Given the description of an element on the screen output the (x, y) to click on. 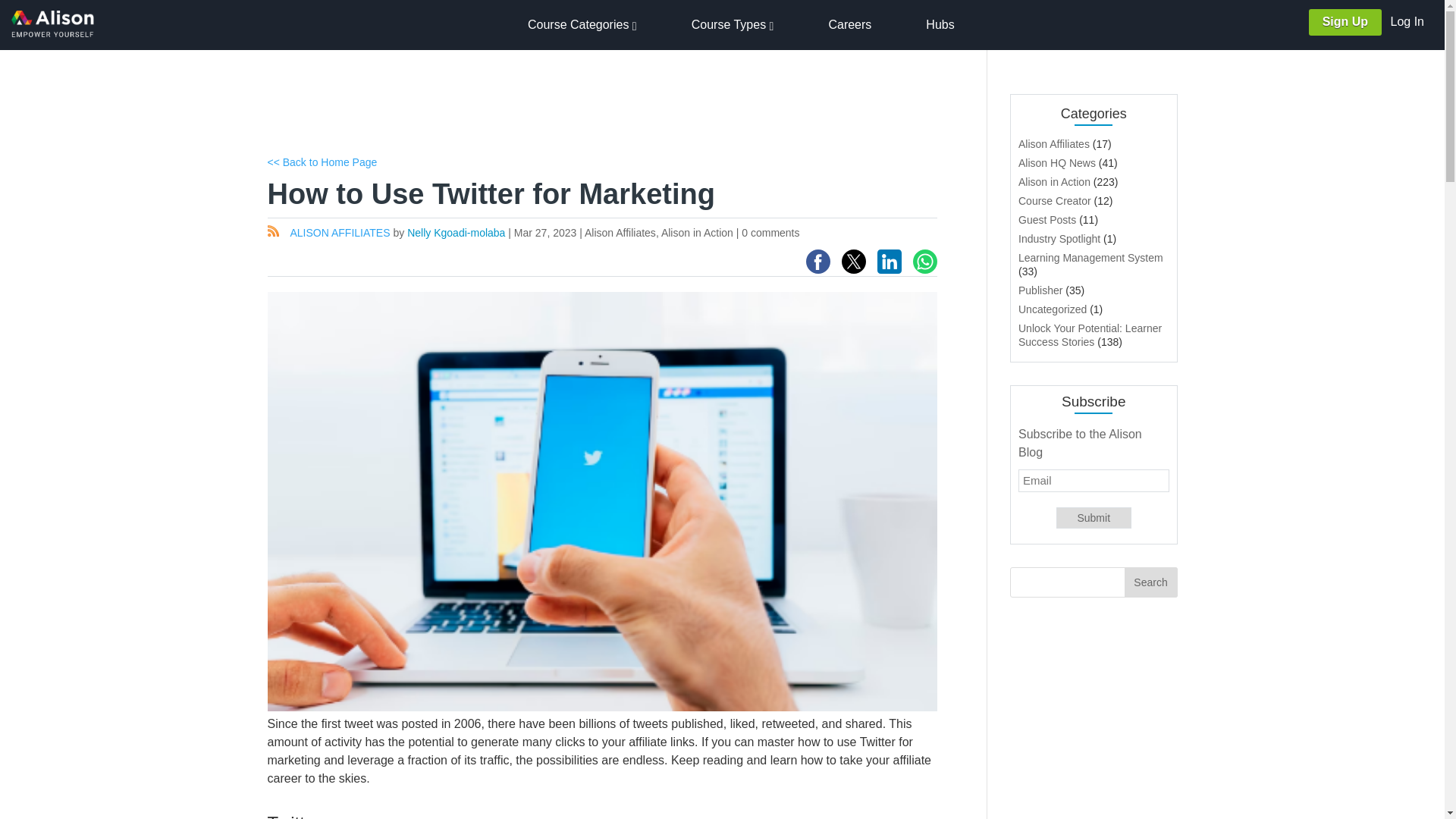
Discover Careers (849, 24)
Hubs (939, 24)
Careers (849, 24)
Submit (1094, 517)
Course Categories (582, 25)
Hubs (939, 24)
Course Categories (582, 25)
Log In (1406, 21)
Course Types (741, 24)
